Given the description of an element on the screen output the (x, y) to click on. 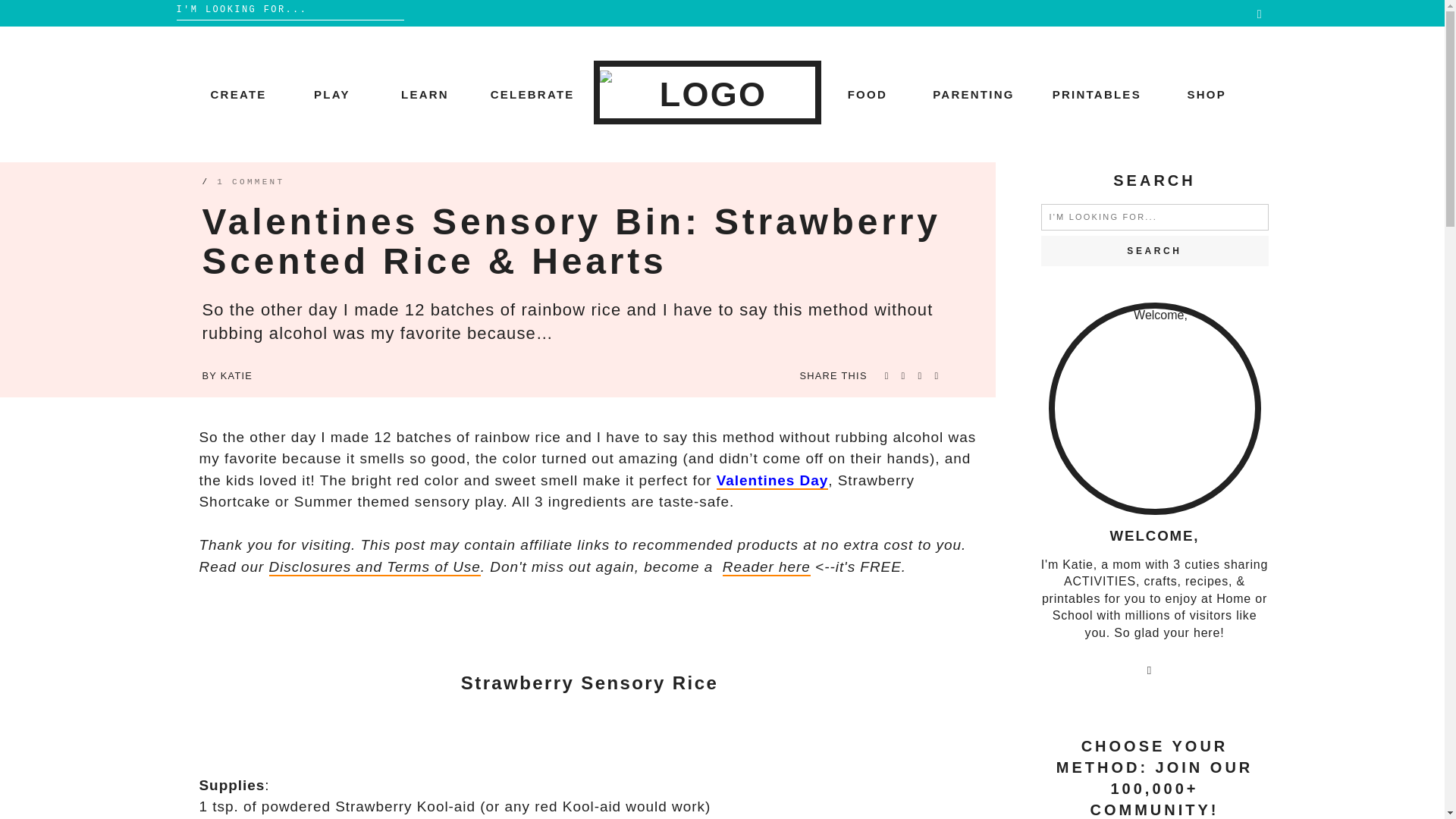
Search (1154, 250)
email icon (1149, 672)
Search (1154, 250)
